Given the description of an element on the screen output the (x, y) to click on. 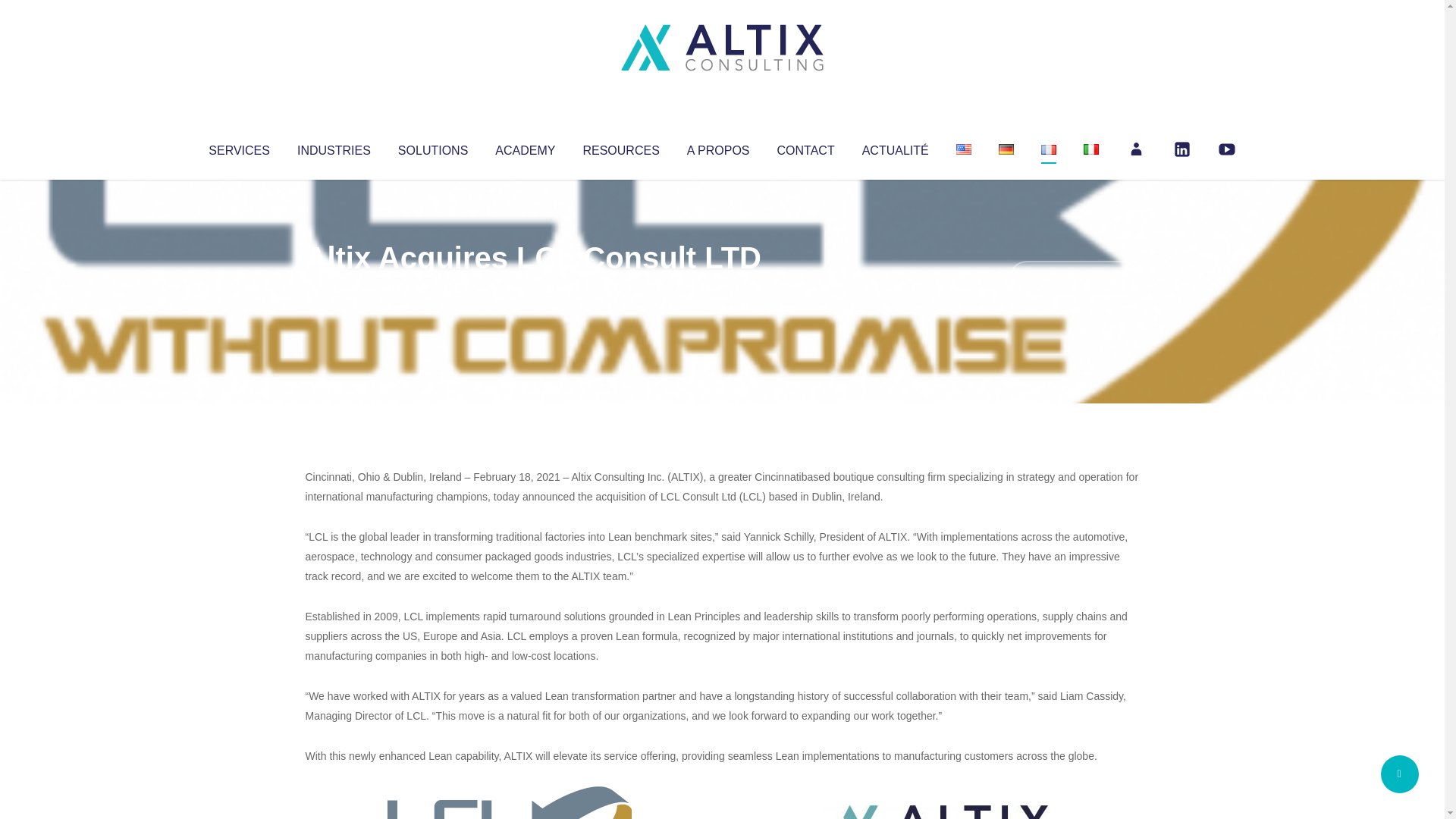
ACADEMY (524, 146)
Articles par Altix (333, 287)
SOLUTIONS (432, 146)
SERVICES (238, 146)
RESOURCES (620, 146)
Uncategorized (530, 287)
Altix (333, 287)
No Comments (1073, 278)
A PROPOS (718, 146)
INDUSTRIES (334, 146)
